Given the description of an element on the screen output the (x, y) to click on. 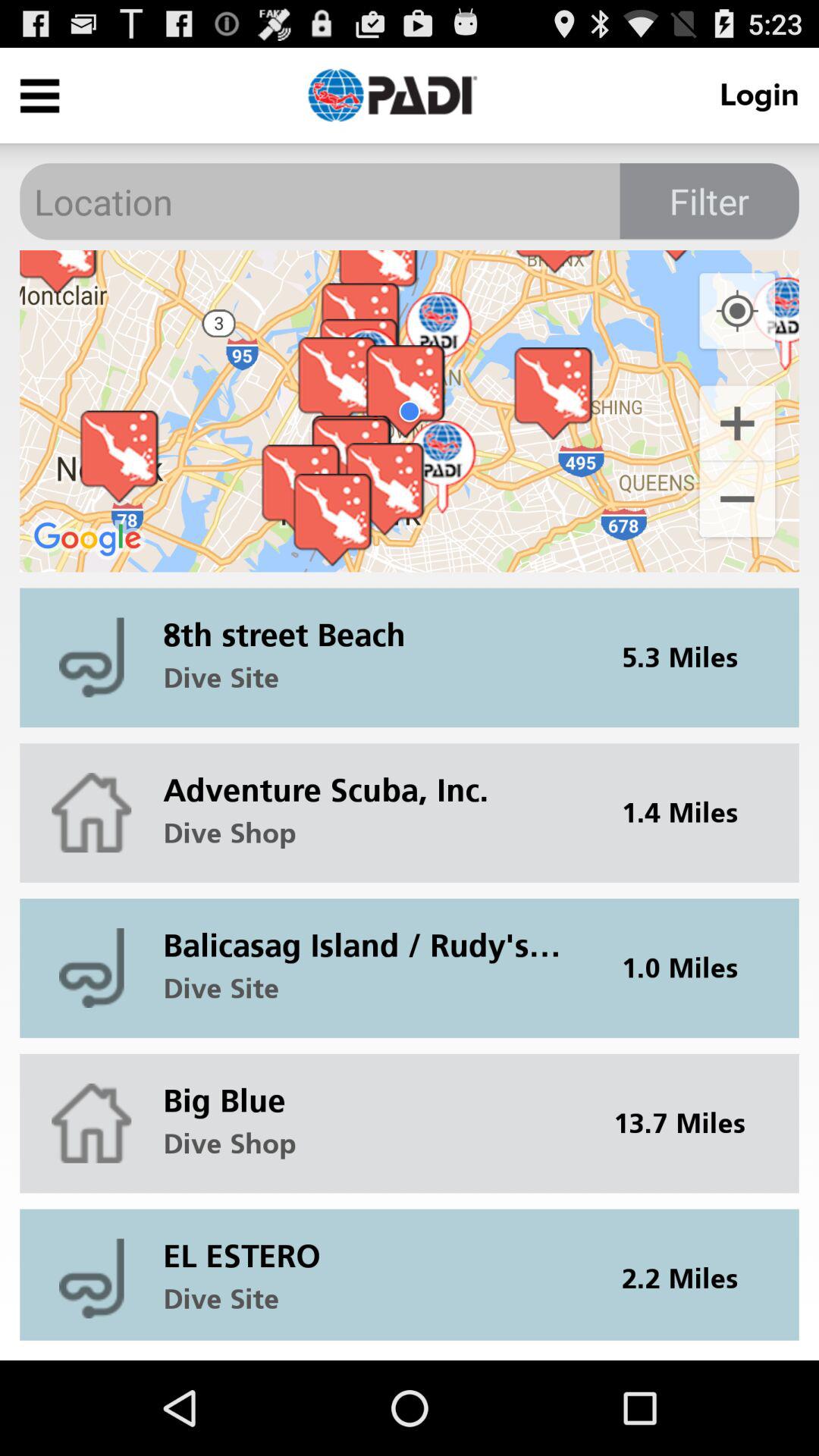
click the item below login icon (709, 200)
